Given the description of an element on the screen output the (x, y) to click on. 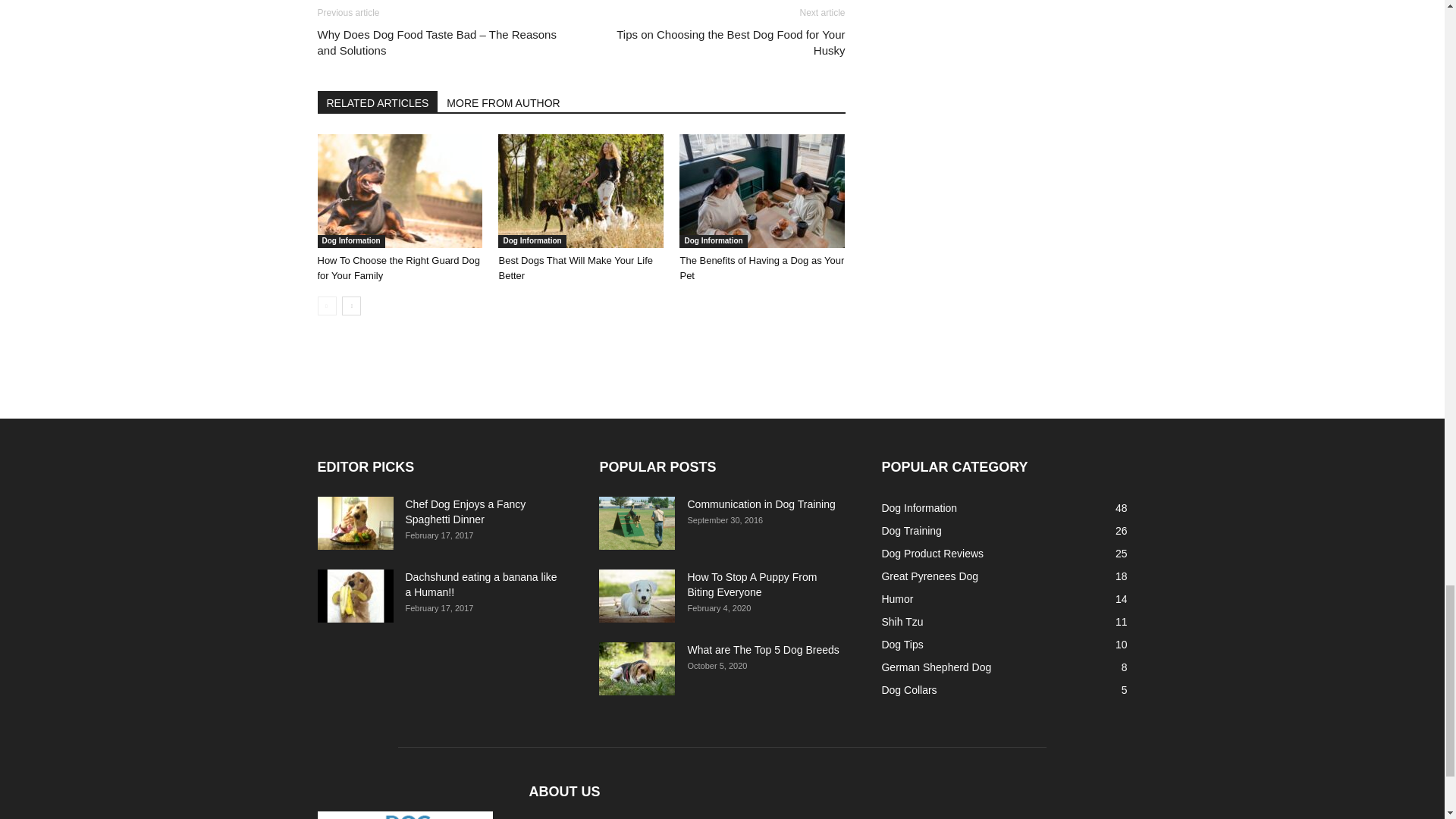
RELATED ARTICLES (377, 101)
How To Choose the Right Guard Dog for Your Family (399, 191)
Dachshund eating a banana like a Human!! (355, 595)
The Benefits of Having a Dog as Your Pet (761, 191)
How To Choose the Right Guard Dog for Your Family (398, 267)
Chef Dog Enjoys a Fancy Spaghetti Dinner (355, 522)
Best Dogs That Will Make Your Life Better (580, 191)
Tips on Choosing the Best Dog Food for Your Husky (721, 42)
Chef Dog Enjoys a Fancy Spaghetti Dinner (464, 511)
The Benefits of Having a Dog as Your Pet (761, 267)
